Given the description of an element on the screen output the (x, y) to click on. 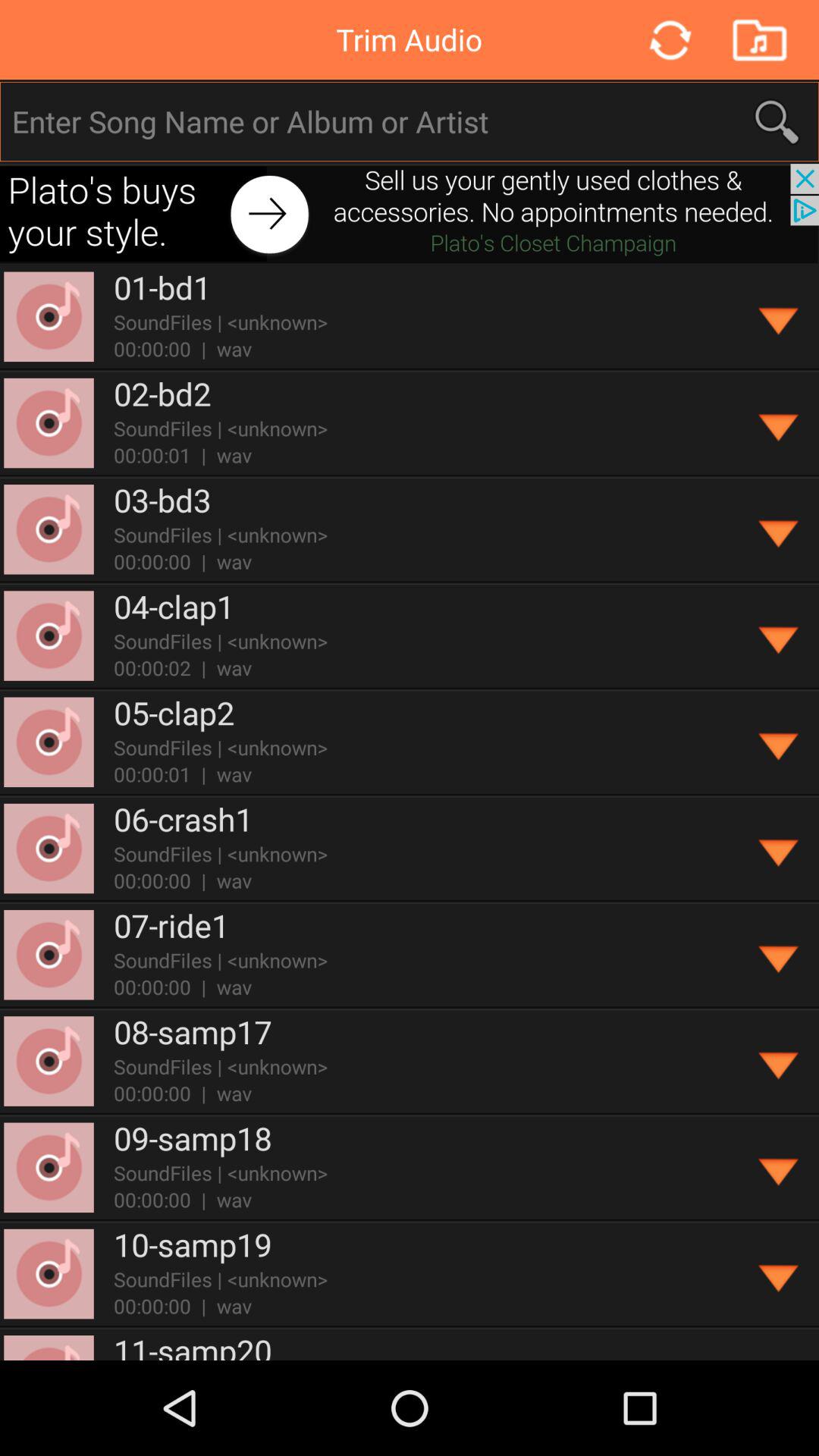
play the song (779, 316)
